Given the description of an element on the screen output the (x, y) to click on. 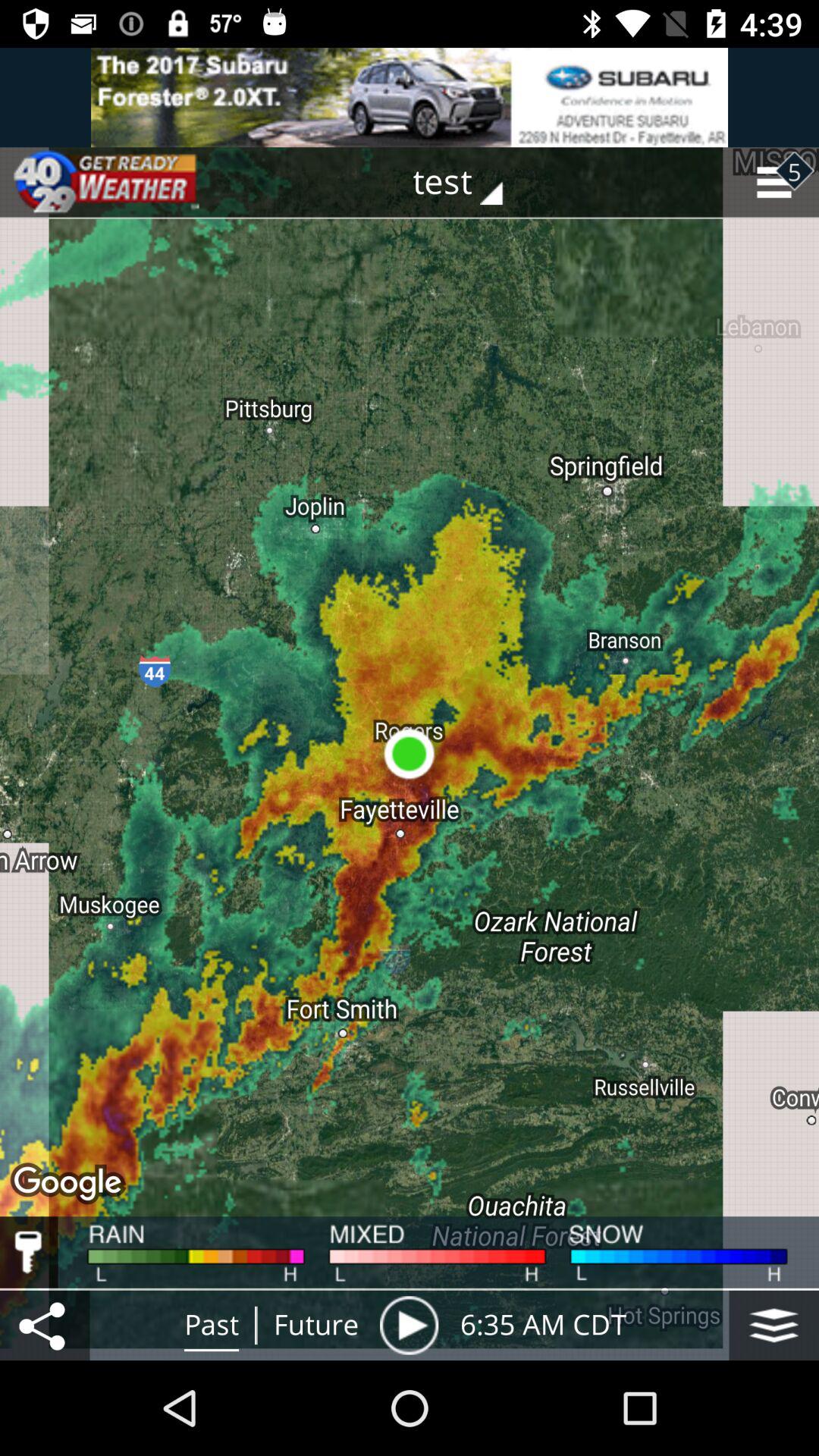
go to the main menu (774, 1325)
